Given the description of an element on the screen output the (x, y) to click on. 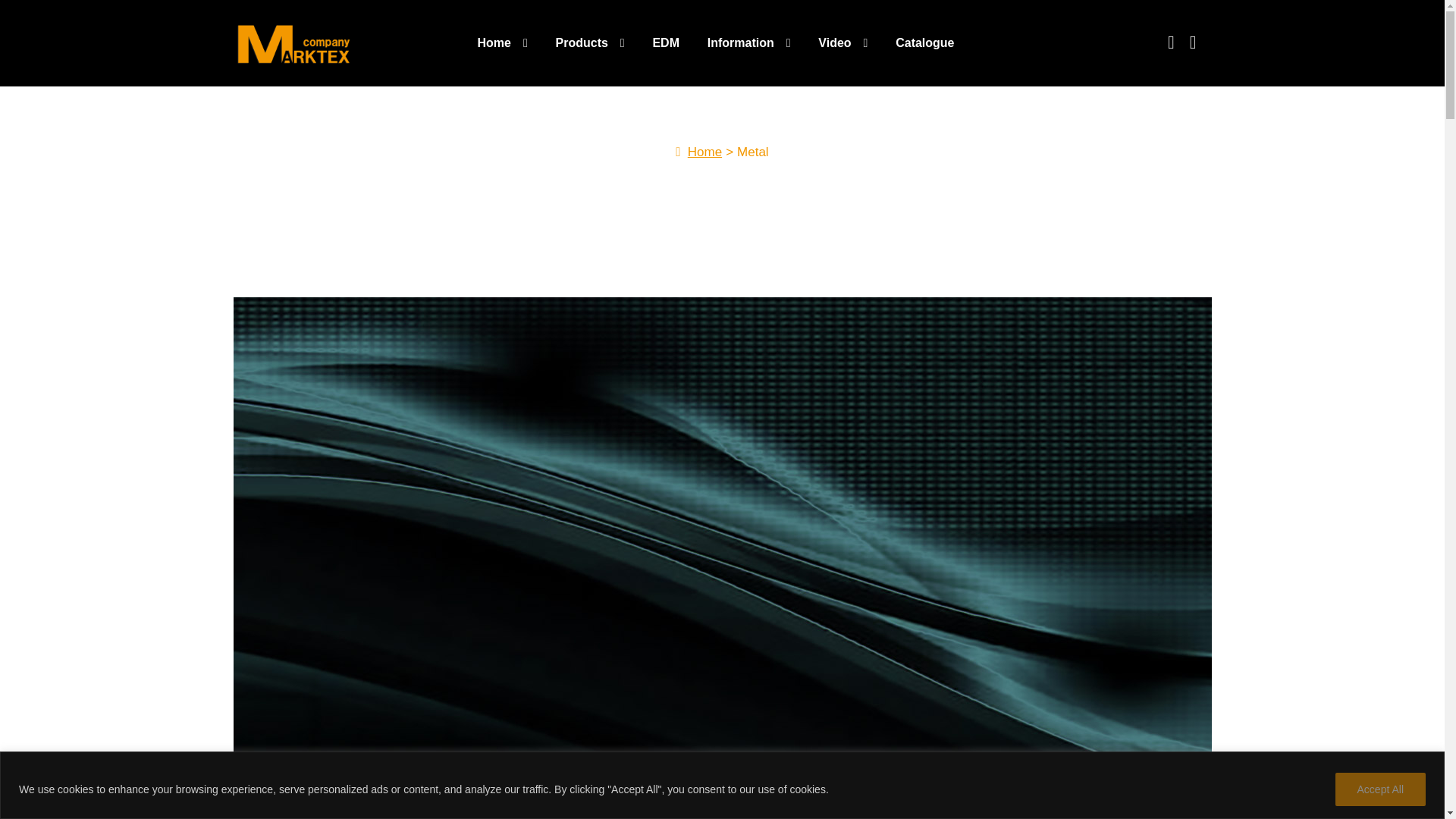
medal (469, 797)
Accept All (1380, 788)
